Given the description of an element on the screen output the (x, y) to click on. 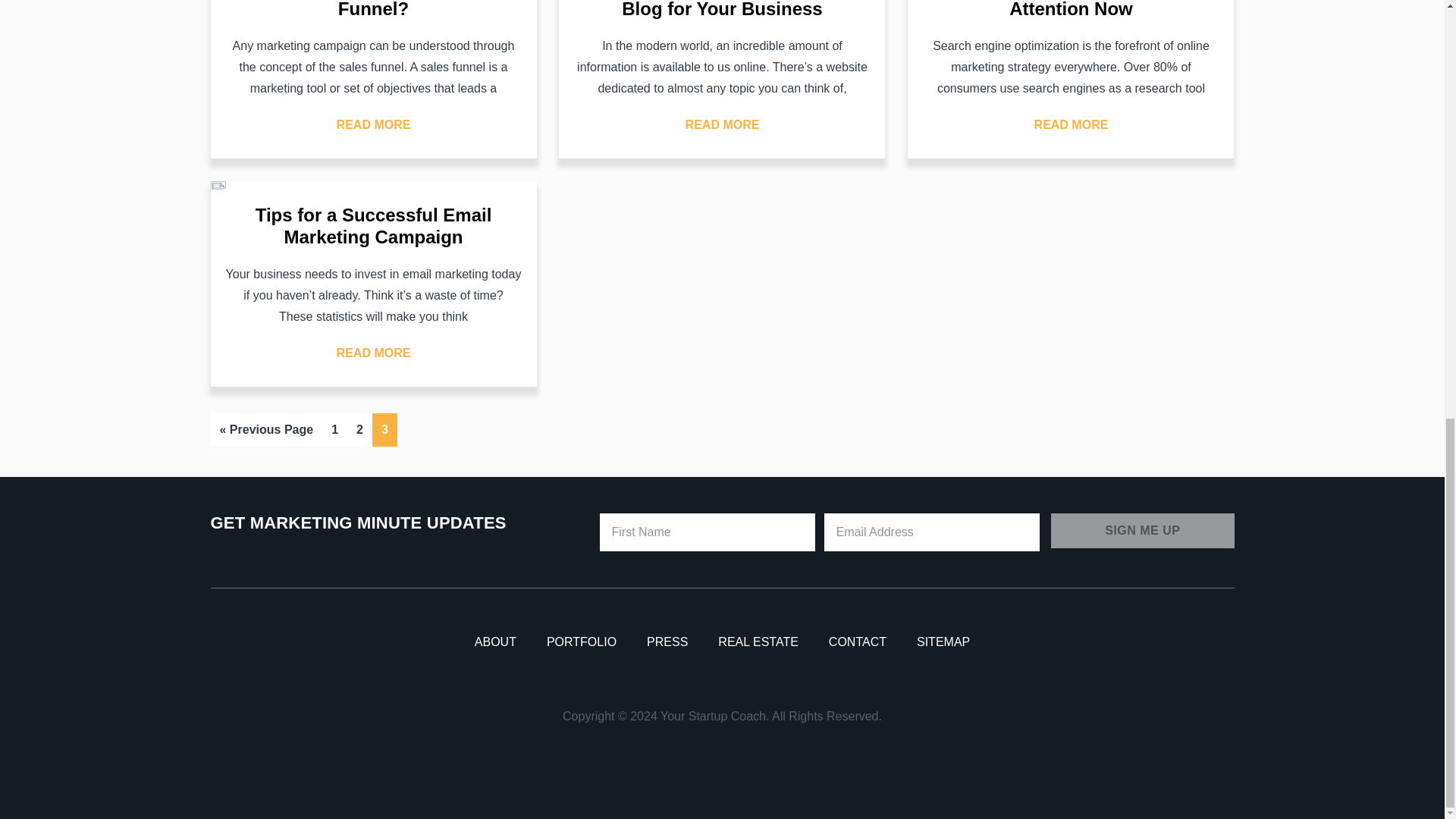
READ MORE (722, 124)
READ MORE (373, 124)
Is Your Website an Effective Sales Funnel? (372, 9)
Steps to Creating a Successful Blog for Your Business (722, 9)
